Given the description of an element on the screen output the (x, y) to click on. 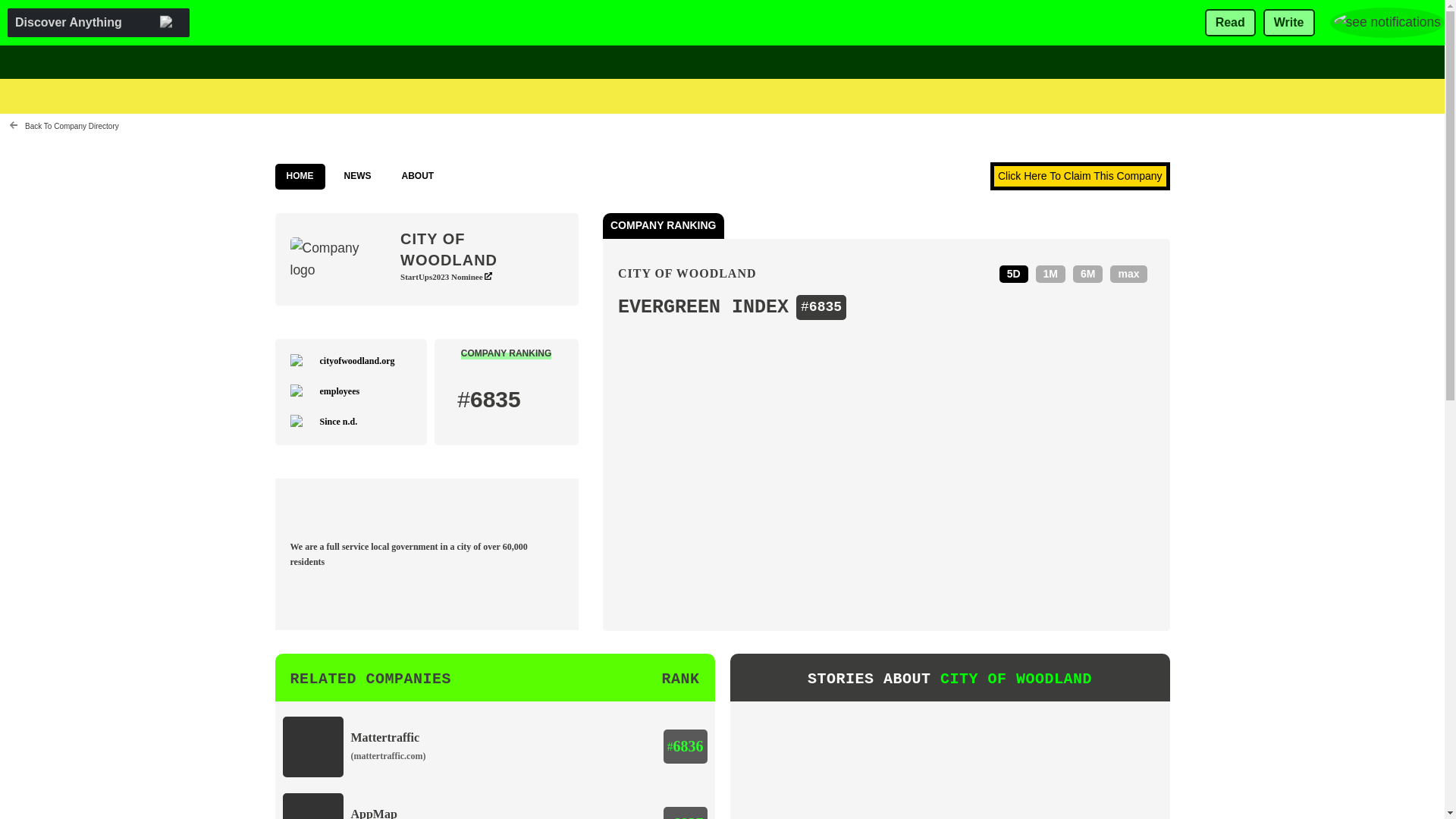
AppMap (373, 813)
cityofwoodland.org (357, 360)
ABOUT (417, 175)
COMPANY RANKING (506, 352)
Mattertraffic (384, 737)
Write (1288, 22)
NEWS (356, 175)
HOME (299, 176)
Back To Company Directory (63, 126)
StartUps2023 Nominee (446, 276)
